Given the description of an element on the screen output the (x, y) to click on. 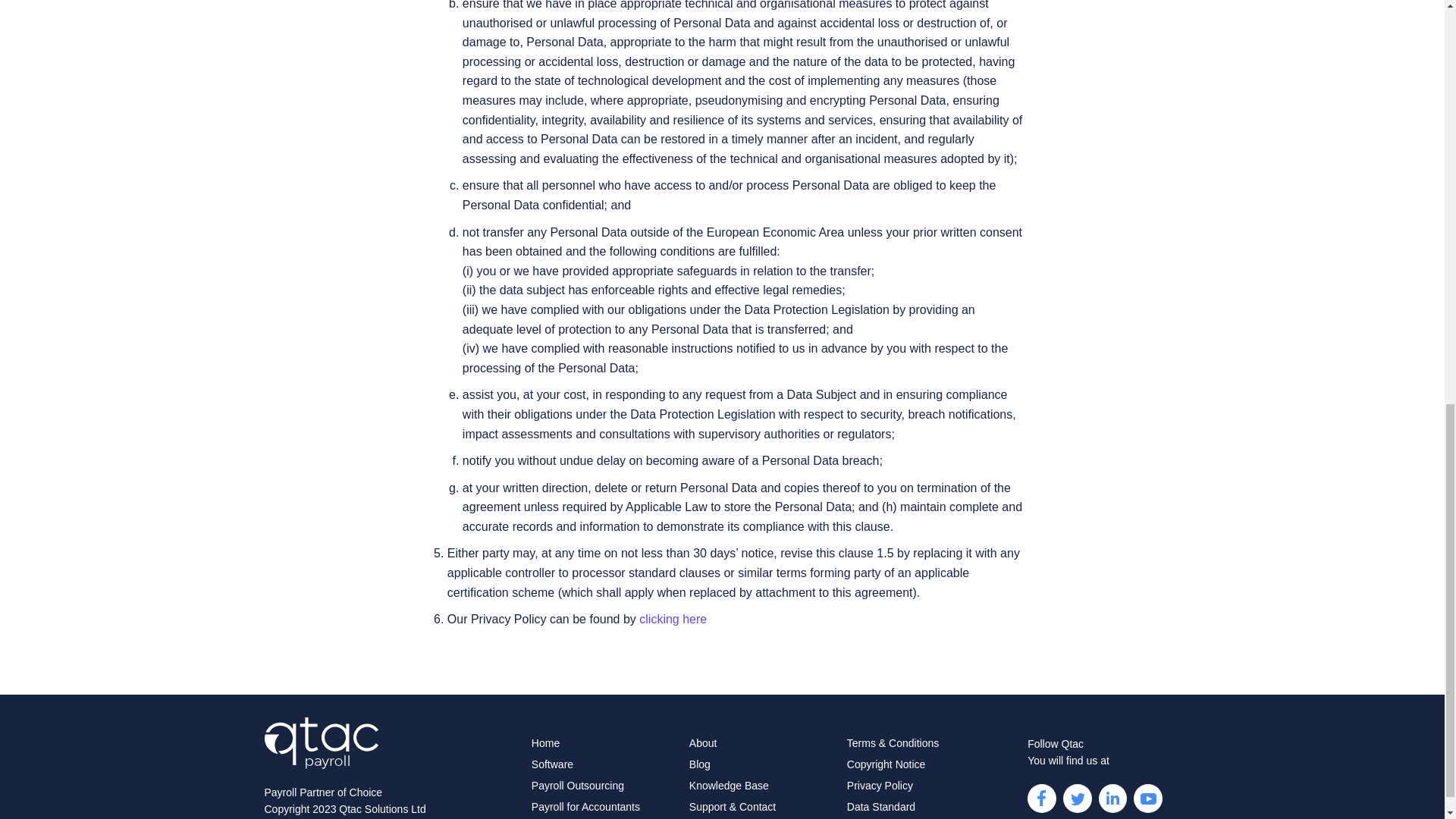
About (702, 743)
Data Standard (881, 806)
Blog (699, 764)
Software (552, 764)
Knowledge Base (728, 785)
clicking here (672, 618)
Privacy Policy (879, 785)
Copyright Notice (886, 764)
Home (545, 743)
Payroll for Accountants (585, 806)
Payroll Outsourcing (577, 785)
